Given the description of an element on the screen output the (x, y) to click on. 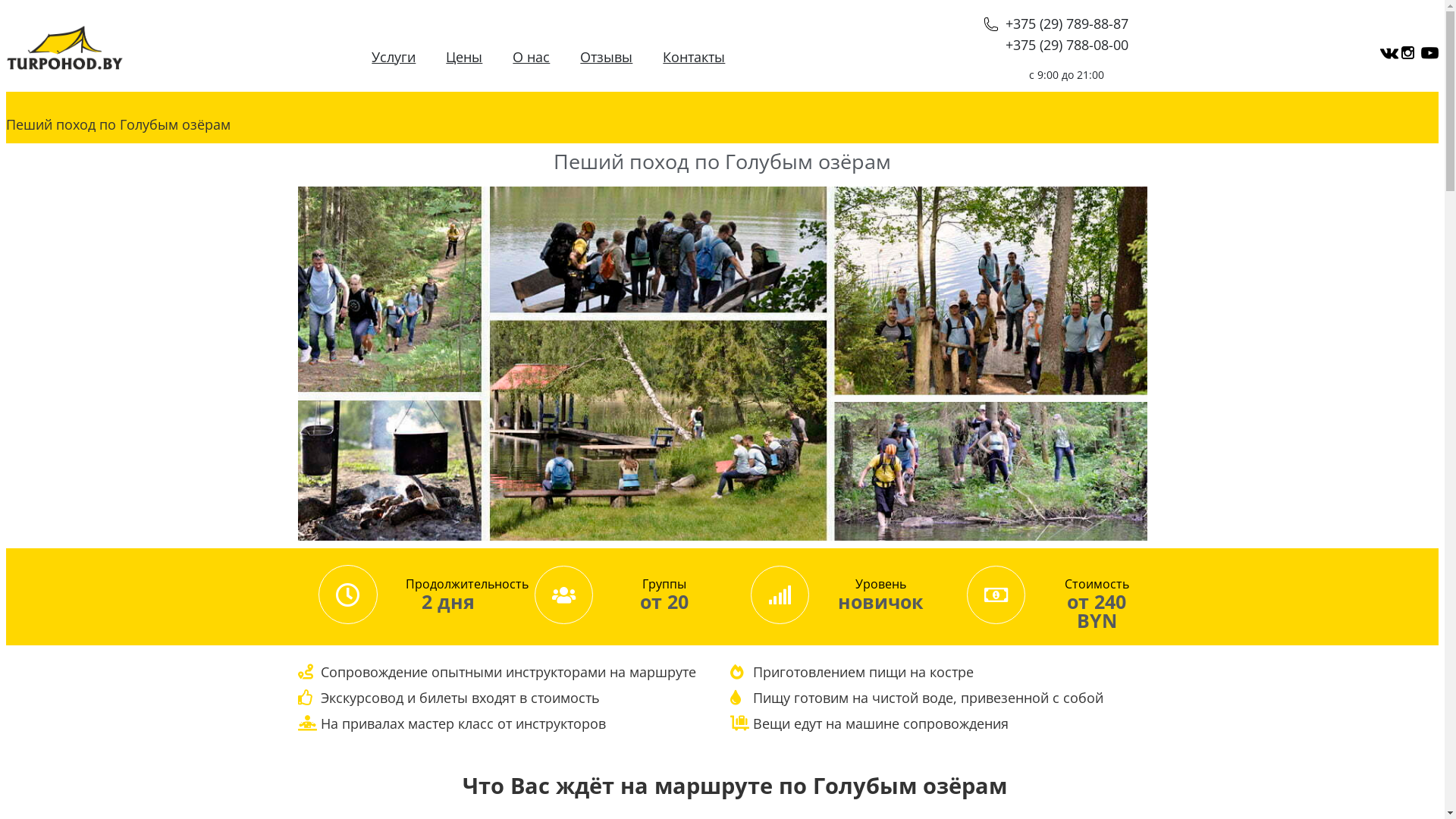
+375 (29) 789-88-87 Element type: text (1055, 23)
+375 (29) 788-08-00 Element type: text (1066, 44)
